Given the description of an element on the screen output the (x, y) to click on. 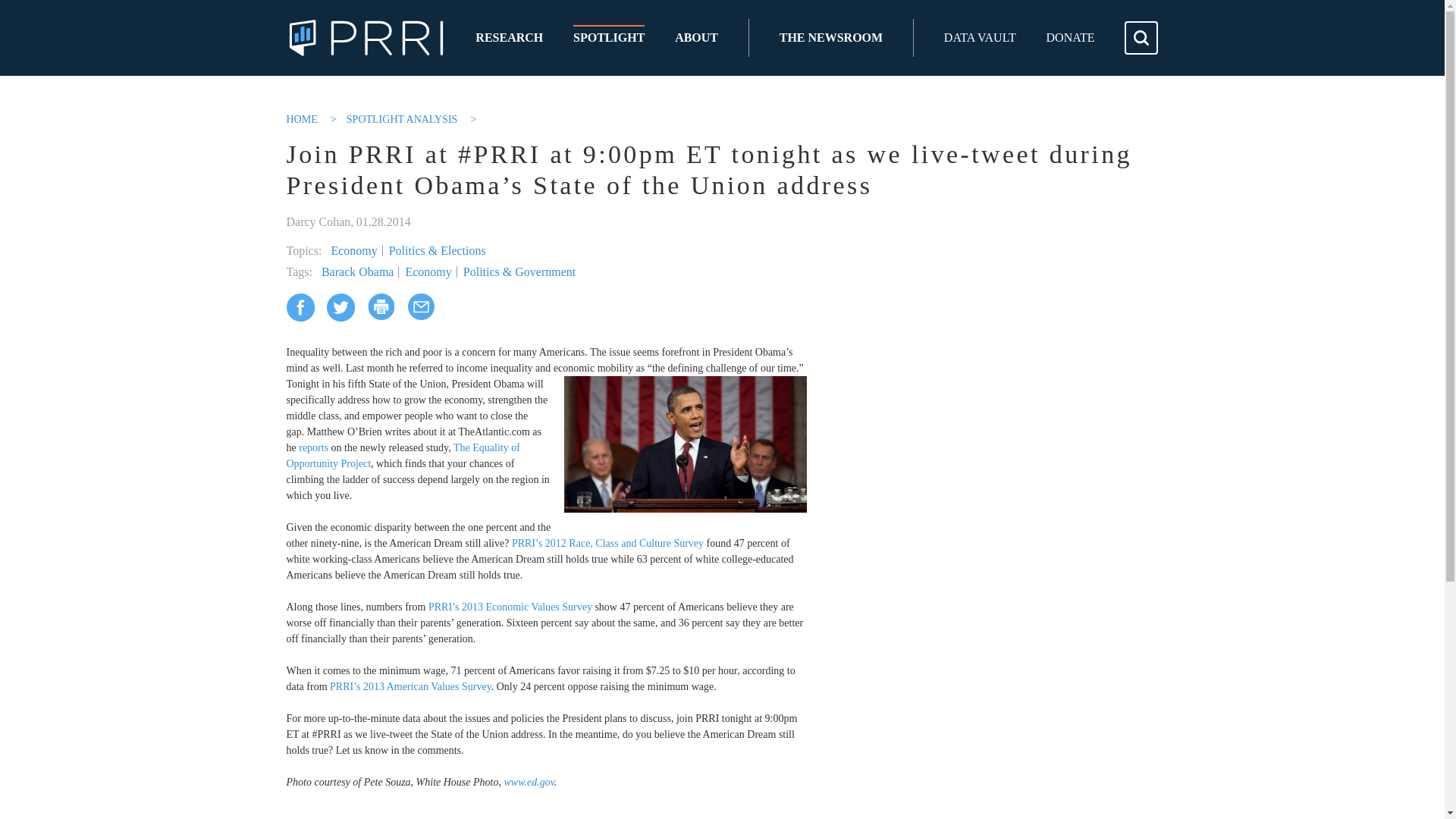
Economy (351, 250)
SPOTLIGHT (609, 37)
Go to Spotlight Analysis. (403, 119)
Go to PRRI. (303, 119)
THE NEWSROOM (830, 37)
DATA VAULT (979, 37)
HOME (303, 119)
SPOTLIGHT ANALYSIS (403, 119)
Barack Obama (355, 271)
RESEARCH (509, 37)
ABOUT (696, 37)
DONATE (1070, 37)
Economy (424, 271)
